Given the description of an element on the screen output the (x, y) to click on. 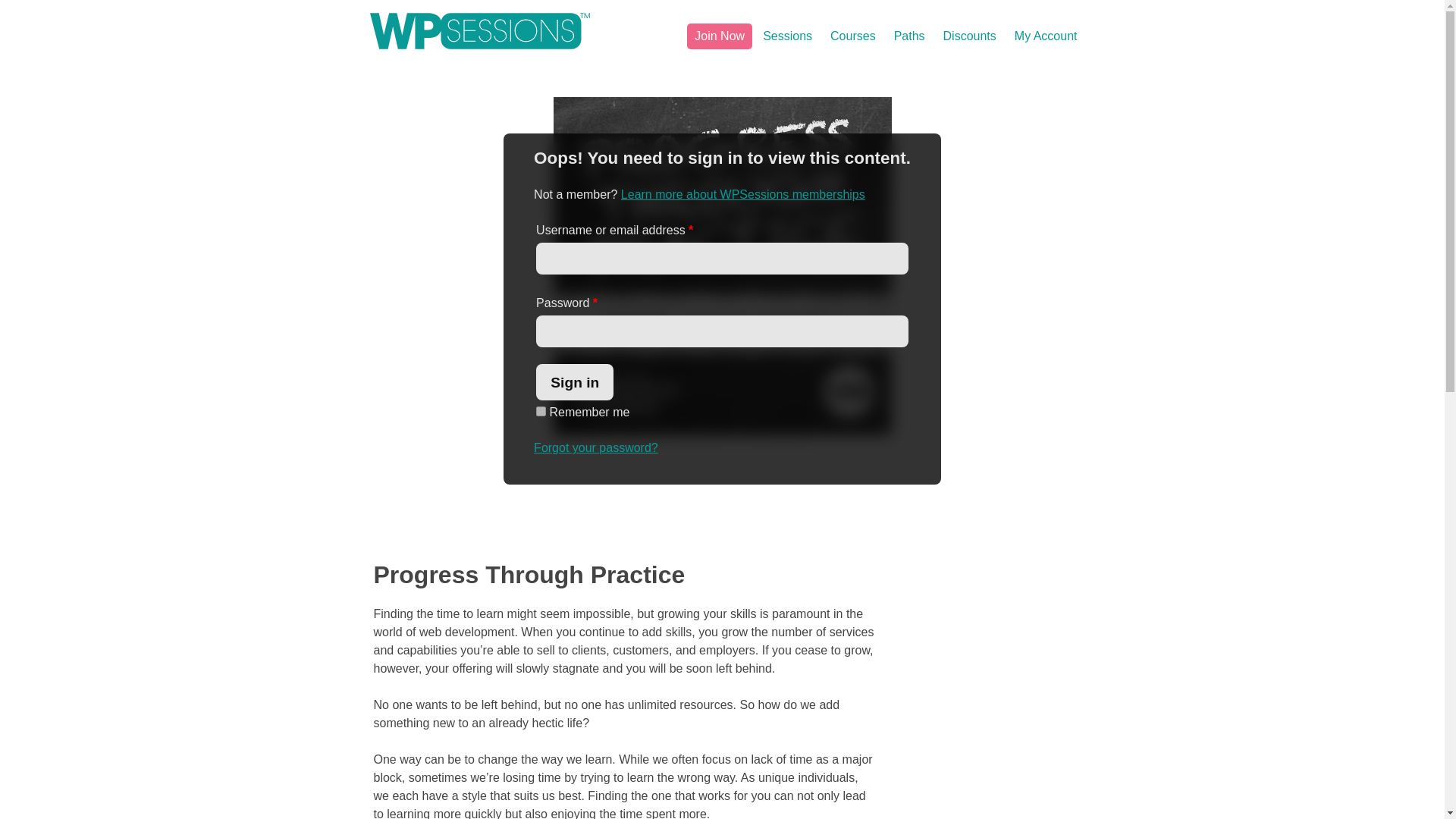
Learn more about WPSessions memberships (742, 194)
WPSessions.com (479, 30)
Courses (852, 36)
Forgot your password? (596, 447)
Sessions (787, 36)
forever (540, 411)
Join Now (719, 36)
Sign in (573, 381)
Discounts (970, 36)
Sign in (573, 381)
